Given the description of an element on the screen output the (x, y) to click on. 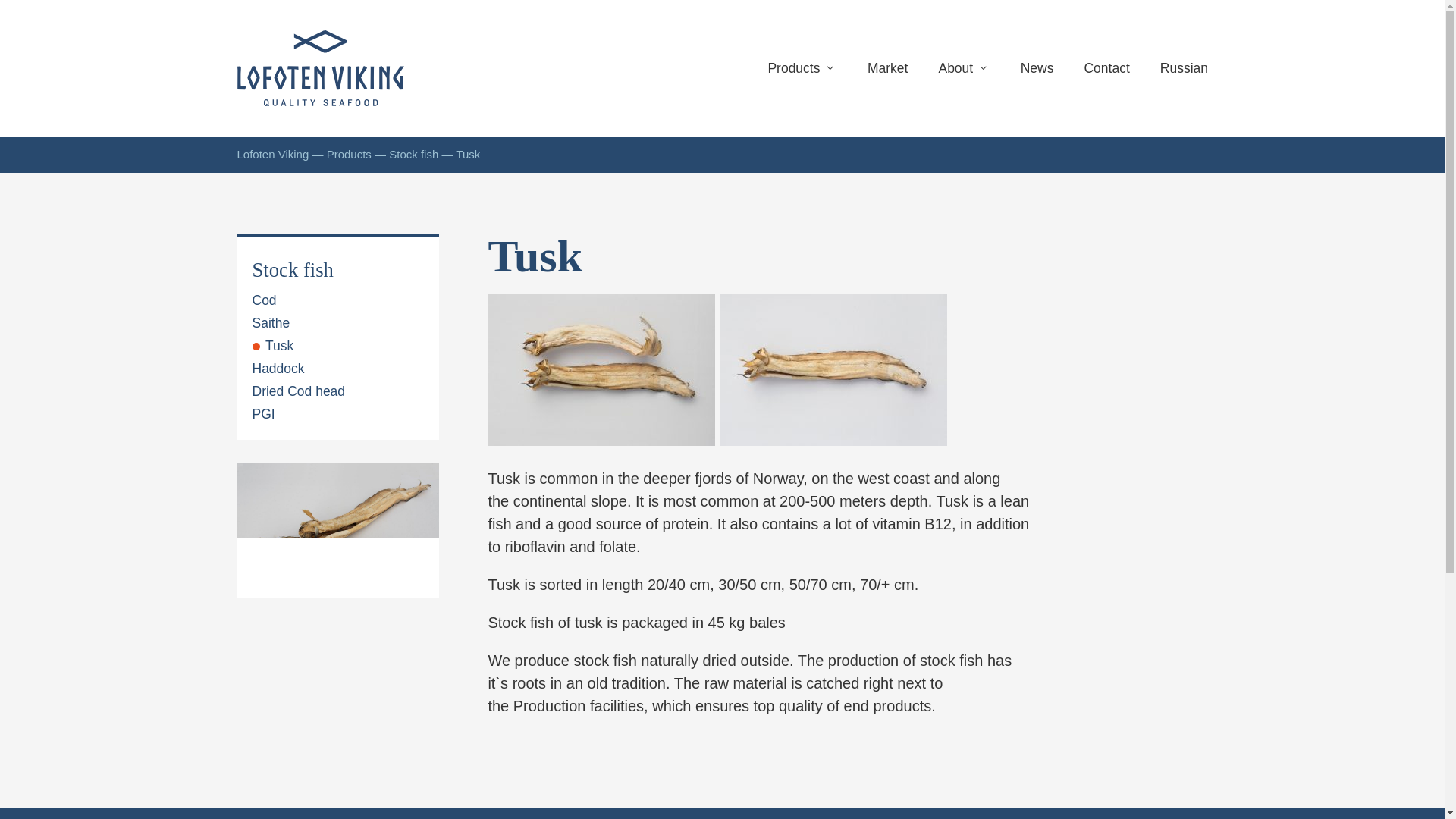
Lofoten Viking (271, 154)
News (1036, 67)
Stock fish (413, 154)
Saithe (270, 322)
Haddock (277, 368)
Dried Cod head (298, 391)
Russian (1182, 67)
Products (348, 154)
About (963, 67)
Cod (263, 300)
